Given the description of an element on the screen output the (x, y) to click on. 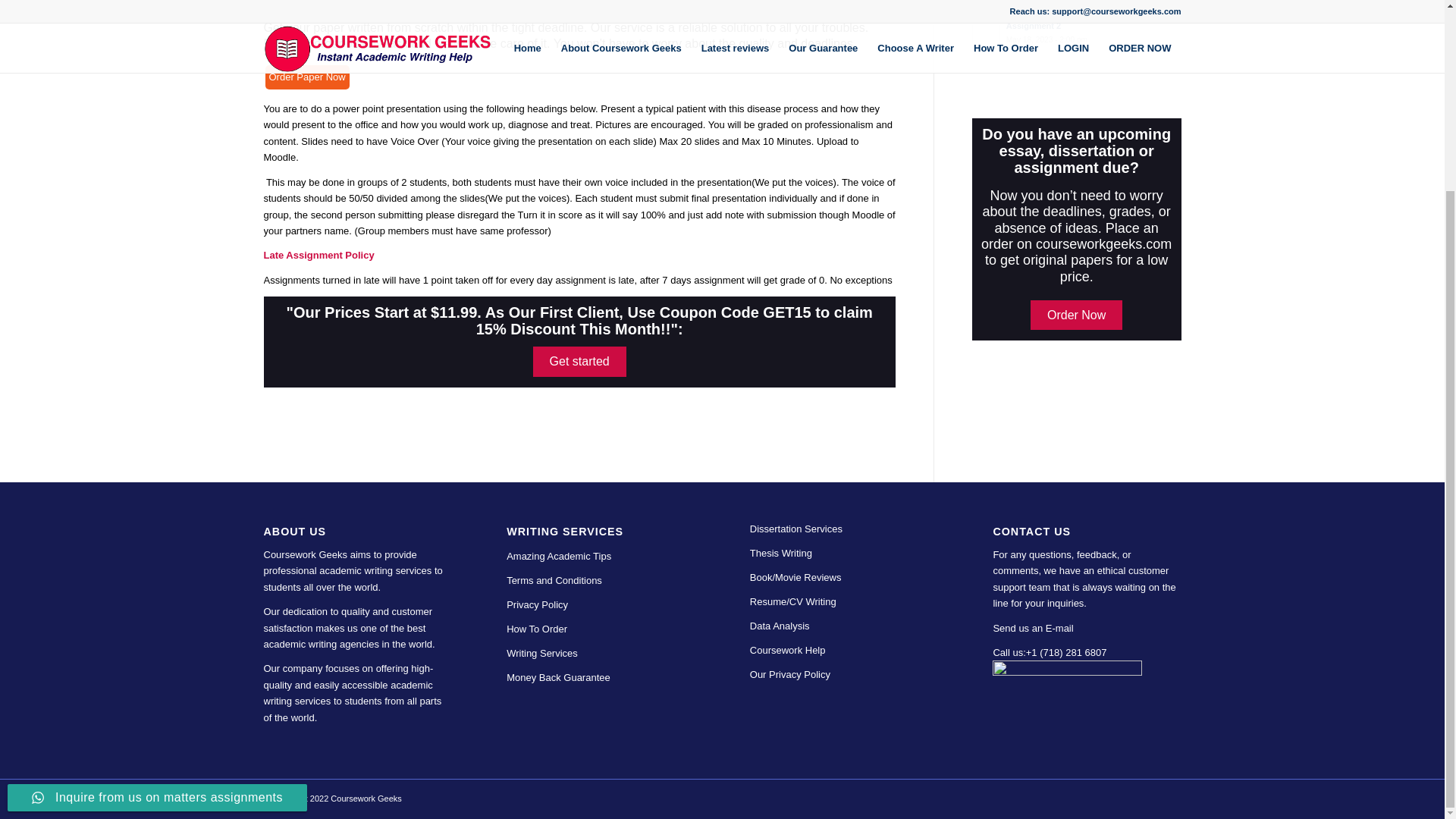
Order Now (1076, 315)
Order Paper Now (306, 76)
CISA Assignment 3 (1076, 4)
Assignment 2 (1076, 4)
Get started (1076, 32)
